Given the description of an element on the screen output the (x, y) to click on. 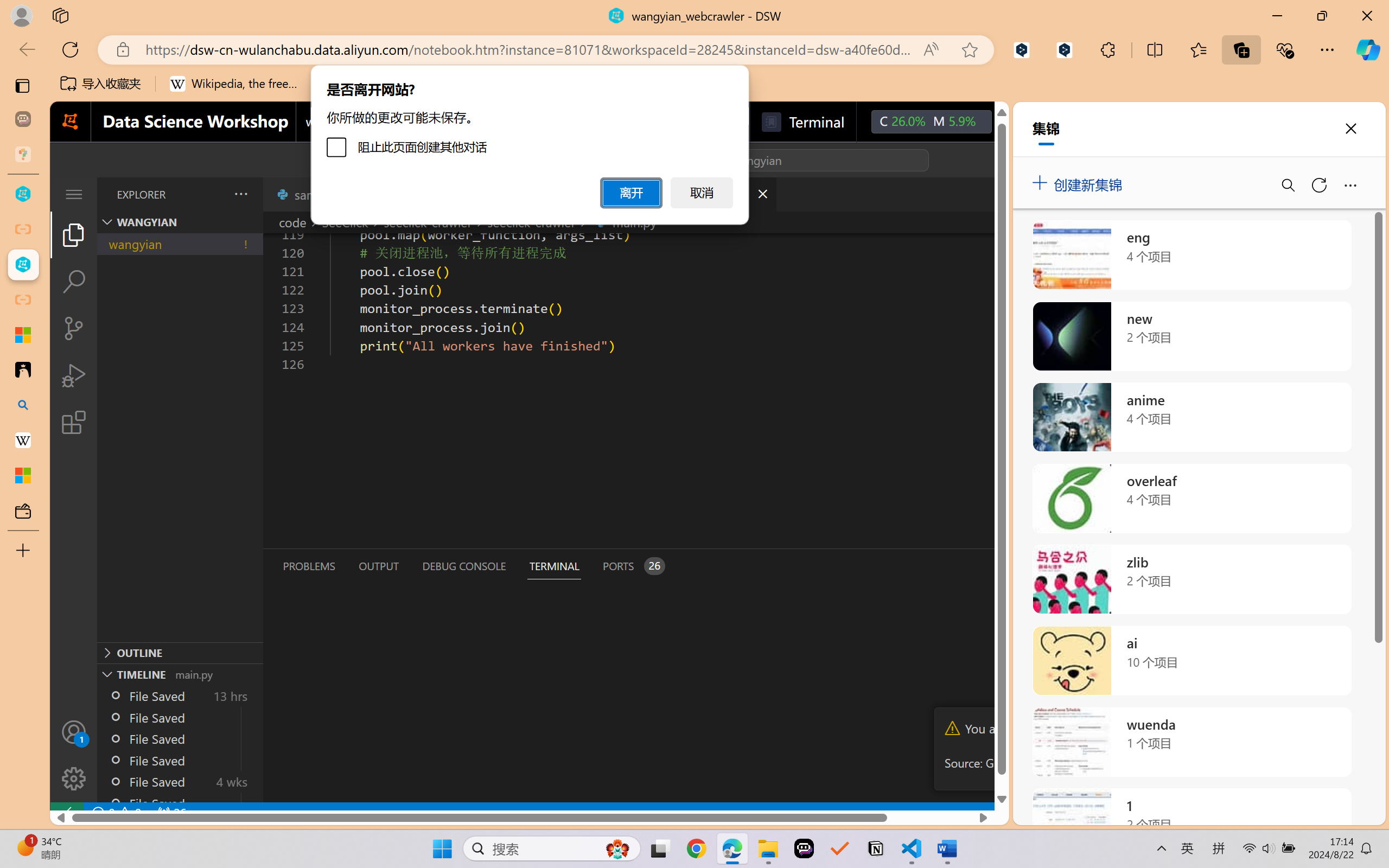
Source Control (Ctrl+Shift+G) (73, 328)
icon (1015, 119)
Class: menubar compact overflow-menu-only (73, 194)
Google Chrome (696, 848)
Problems (Ctrl+Shift+M) (308, 565)
Earth - Wikipedia (22, 440)
